Given the description of an element on the screen output the (x, y) to click on. 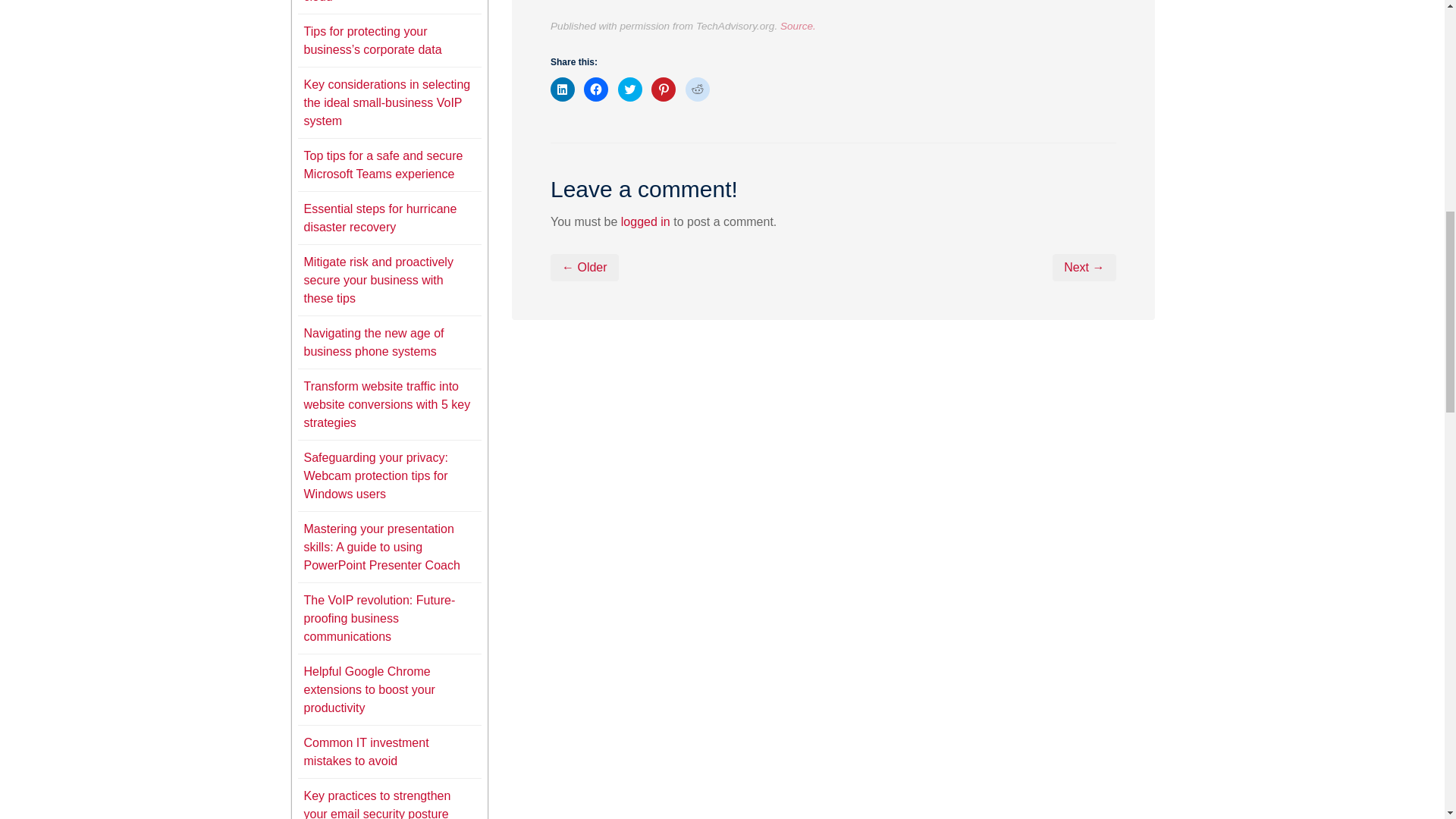
Click to share on Twitter (629, 88)
Click to share on Reddit (697, 88)
Click to share on Pinterest (662, 88)
Click to share on LinkedIn (562, 88)
Click to share on Facebook (595, 88)
